Given the description of an element on the screen output the (x, y) to click on. 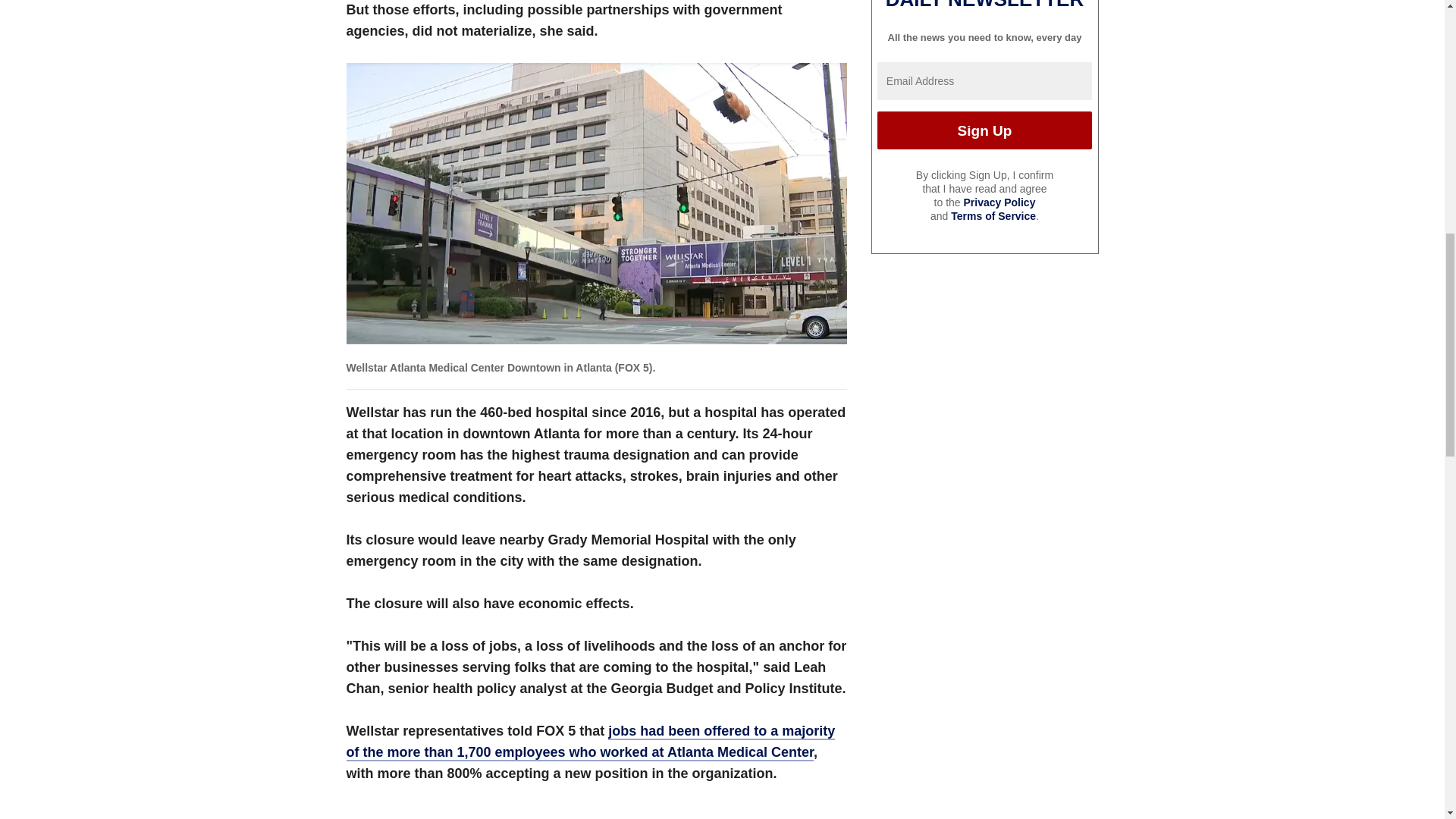
Sign Up (984, 130)
